Given the description of an element on the screen output the (x, y) to click on. 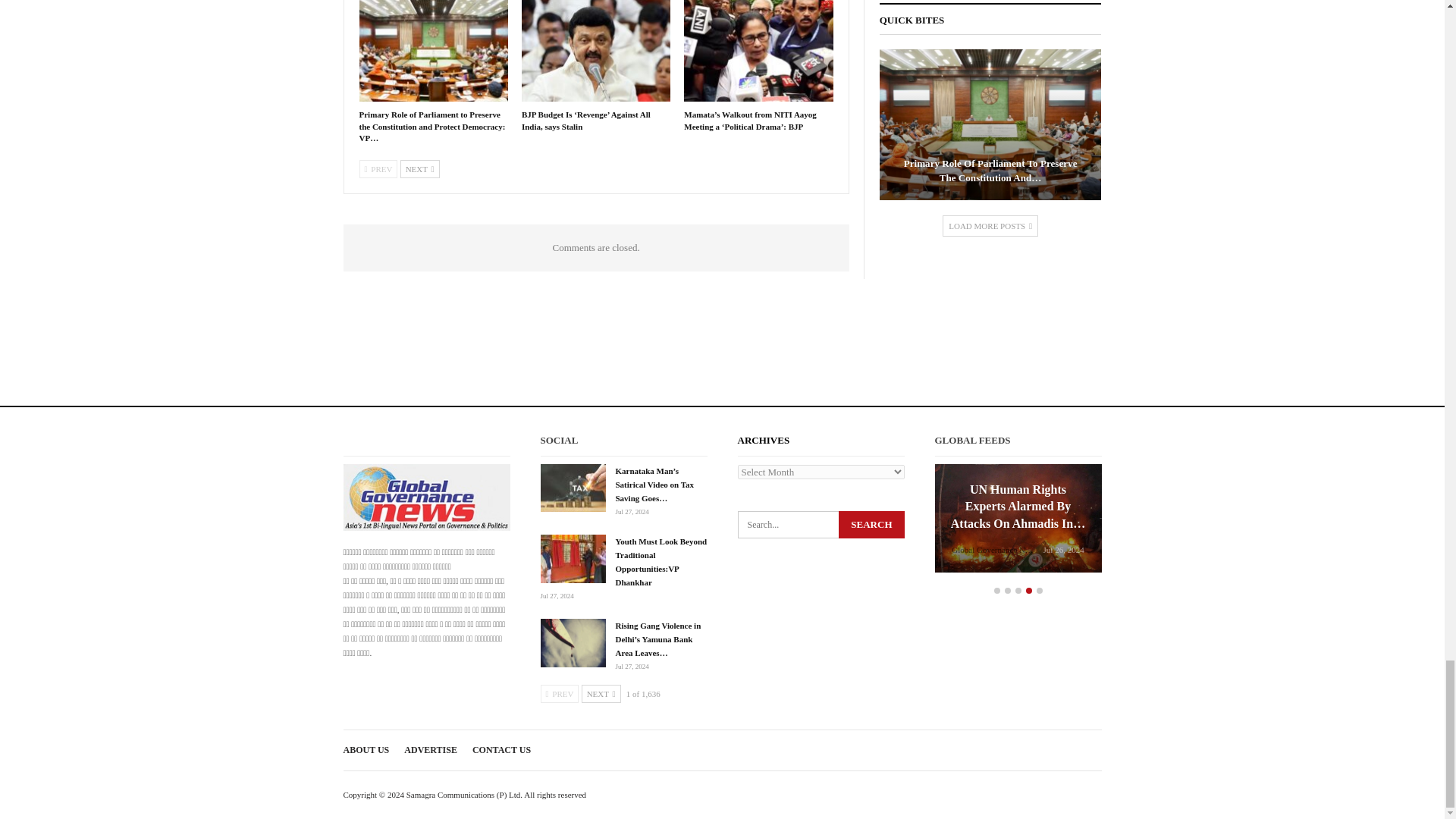
Search (871, 524)
Search (871, 524)
